Given the description of an element on the screen output the (x, y) to click on. 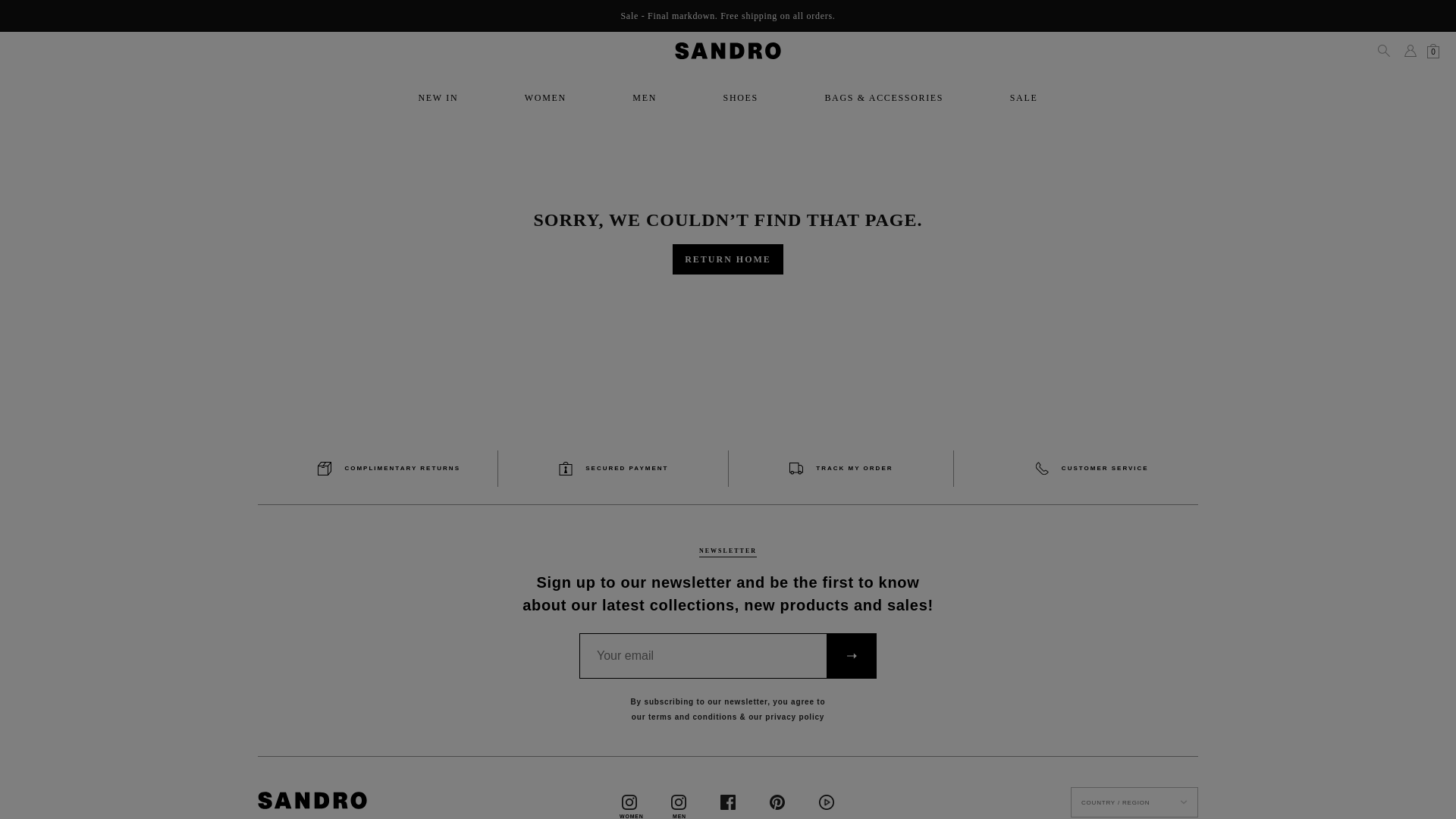
WOMEN (545, 97)
MEN (643, 97)
NEW IN (438, 97)
